Given the description of an element on the screen output the (x, y) to click on. 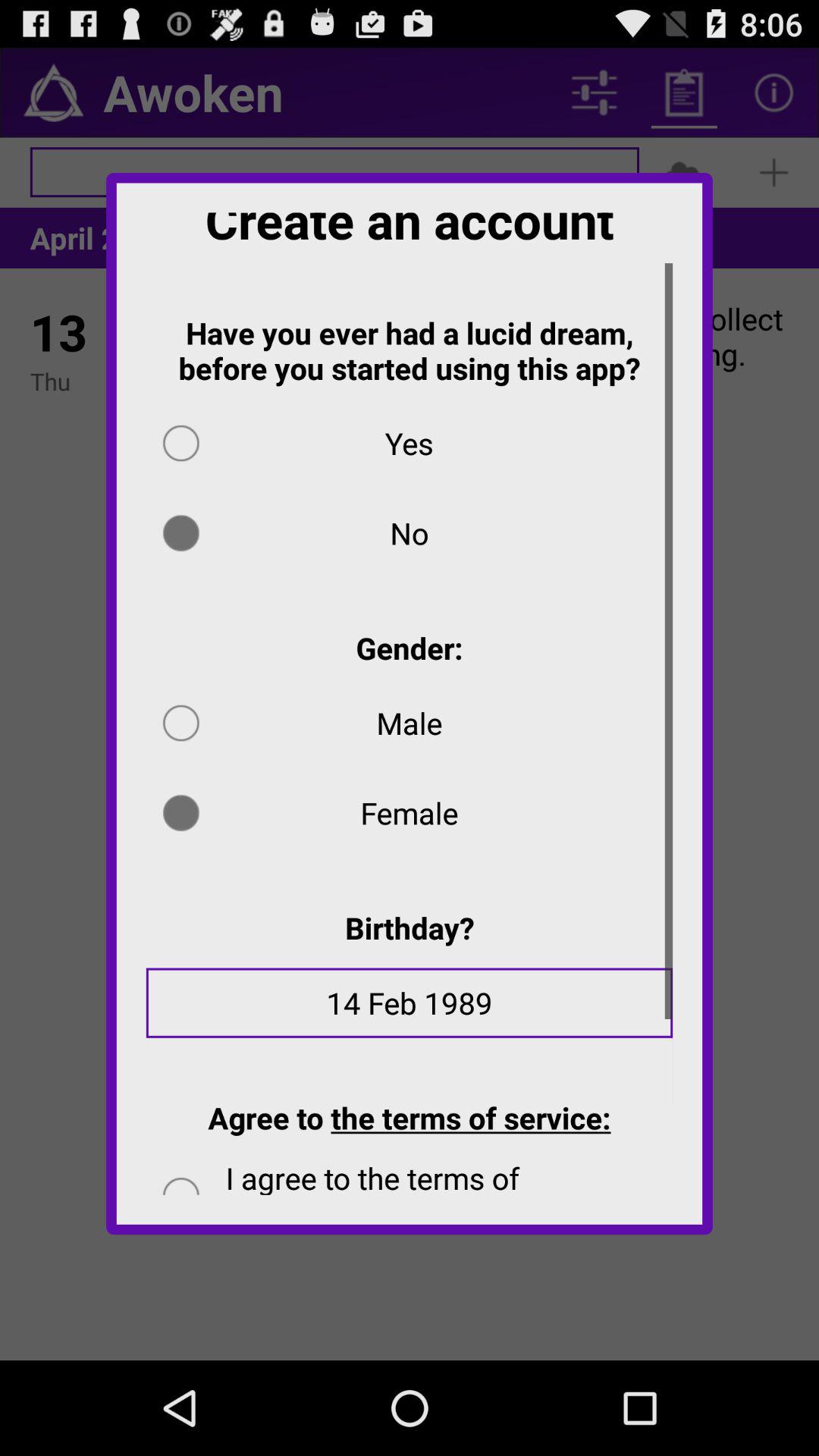
choose the 14 feb 1989 (409, 1013)
